Given the description of an element on the screen output the (x, y) to click on. 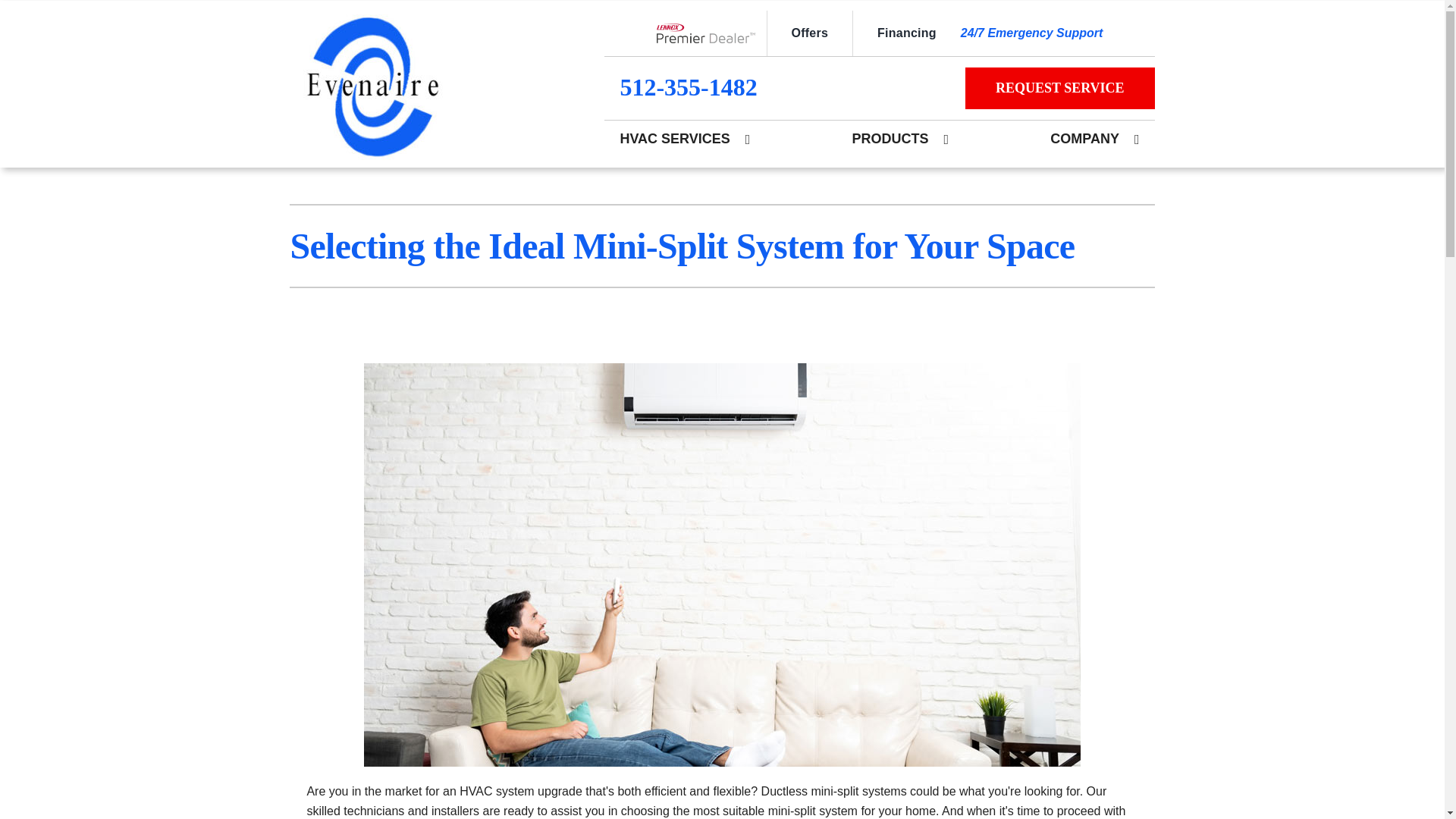
Financing (905, 33)
REQUEST SERVICE (1059, 87)
HVAC SERVICES (674, 138)
COMPANY (1084, 138)
PRODUCTS (890, 138)
Offers (808, 33)
